Given the description of an element on the screen output the (x, y) to click on. 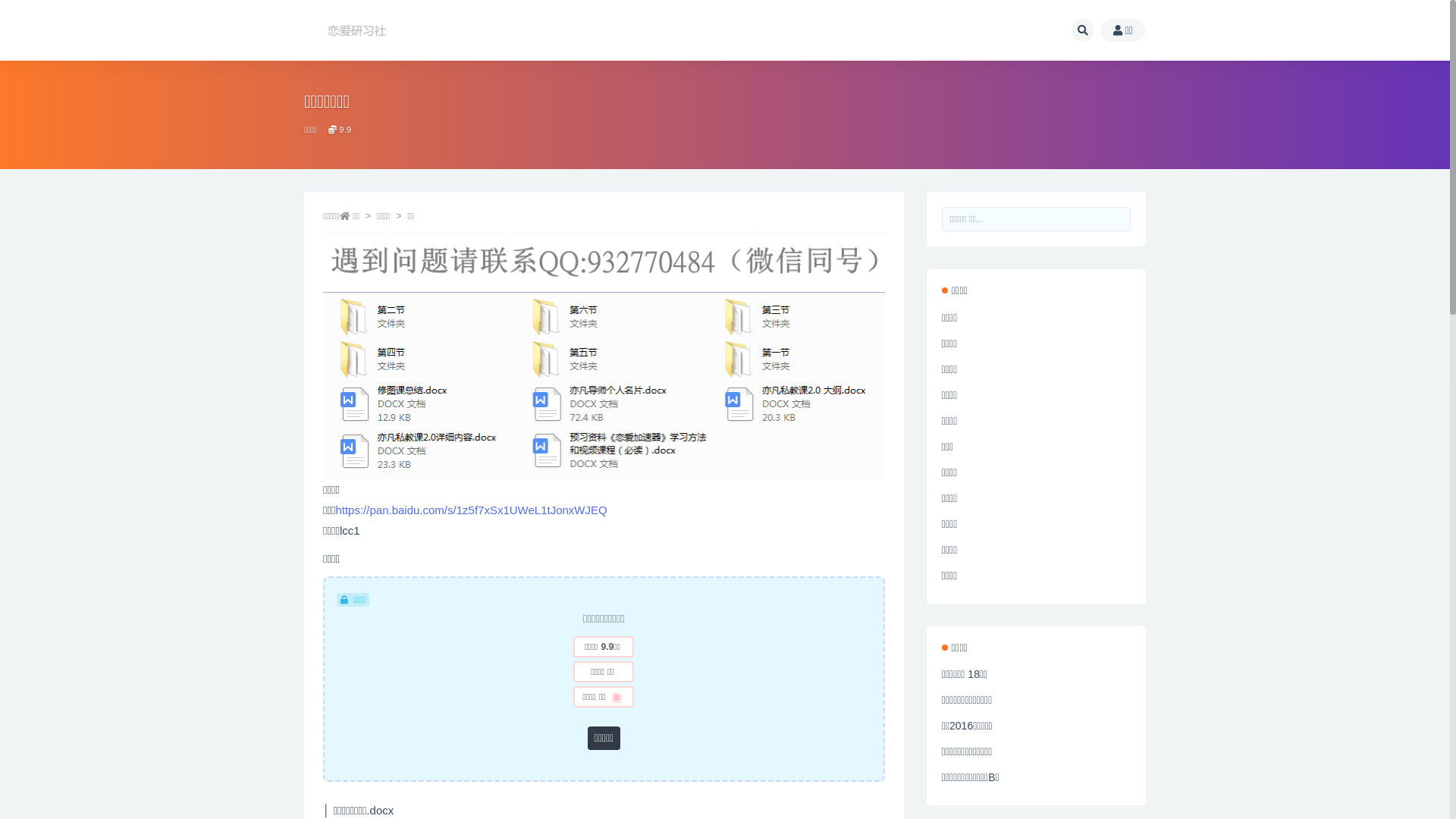
https://pan.baidu.com/s/1z5f7xSx1UWeL1tJonxWJEQ Element type: text (470, 509)
